Given the description of an element on the screen output the (x, y) to click on. 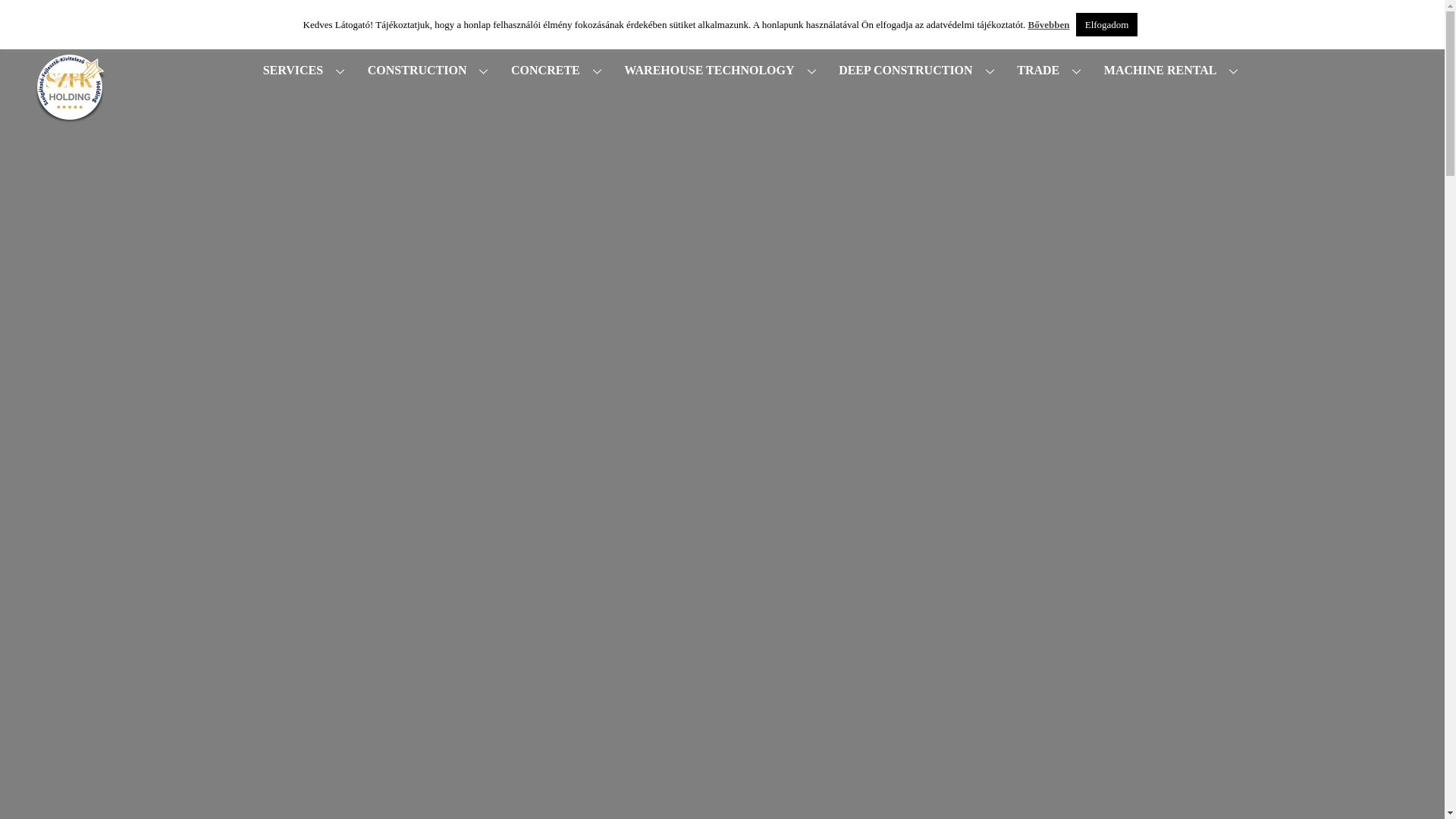
Gallery Our machines About us Contact (964, 15)
About us (968, 15)
WAREHOUSE TECHNOLOGY (722, 70)
SZFK Holding (69, 128)
CONSTRUCTION (429, 70)
Gallery (799, 15)
Contact (1040, 15)
Our machines (881, 15)
CONCRETE (557, 70)
SERVICES (306, 70)
